Given the description of an element on the screen output the (x, y) to click on. 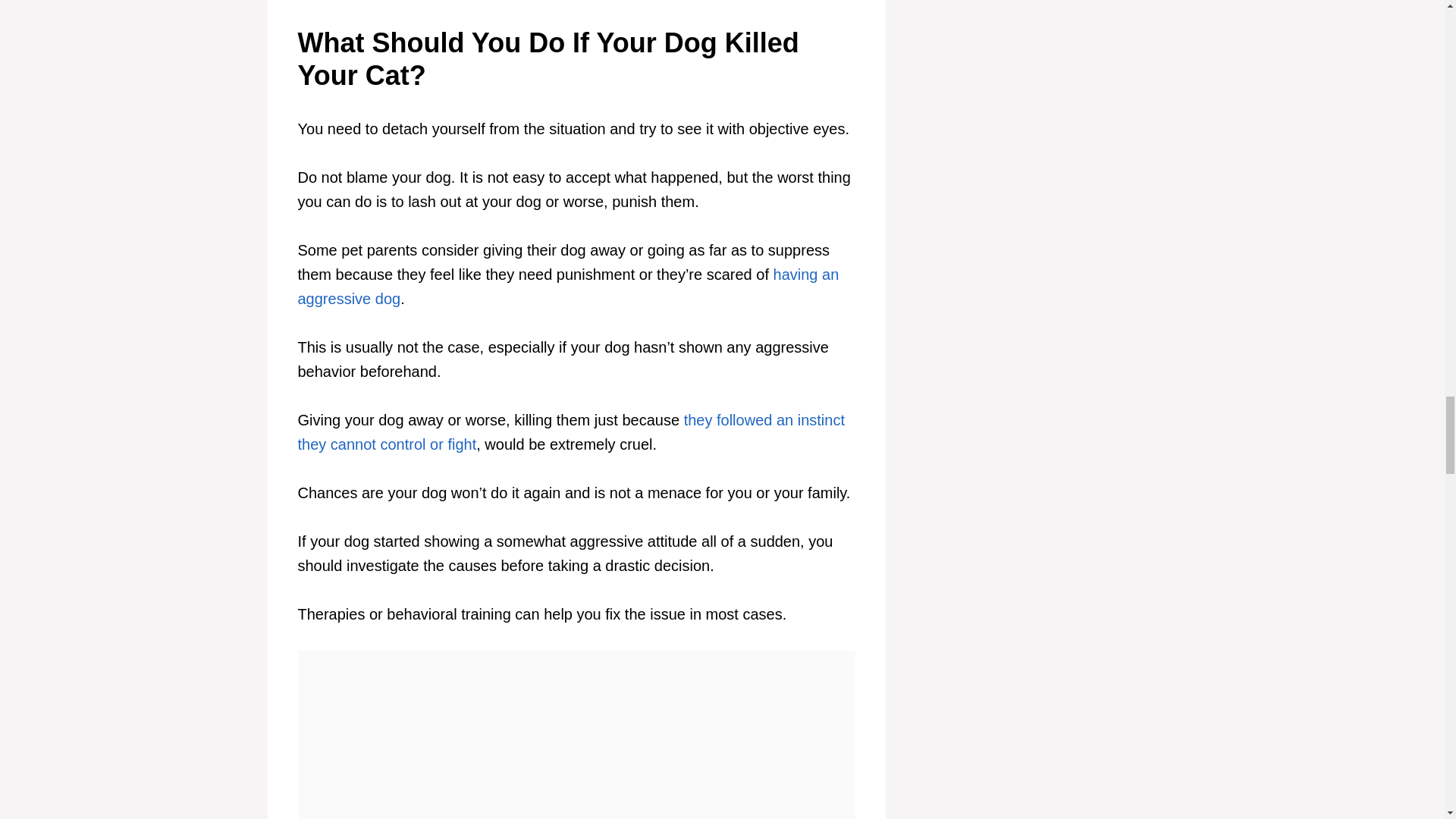
having an aggressive dog (567, 286)
they followed an instinct they cannot control or fight (570, 431)
